Given the description of an element on the screen output the (x, y) to click on. 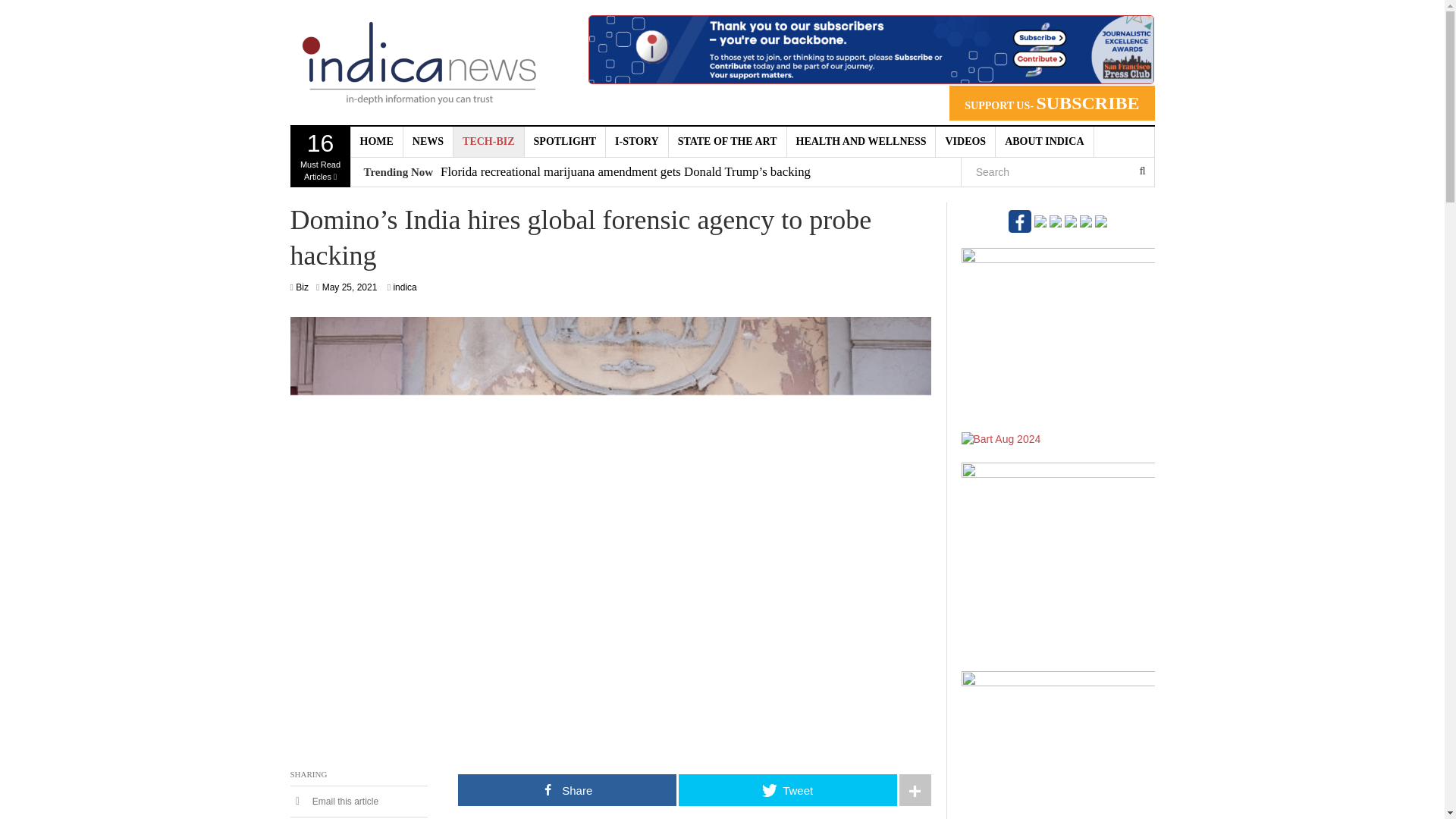
indica (404, 286)
ABOUT INDICA (1044, 141)
NEWS (427, 141)
VIDEOS (965, 141)
STATE OF THE ART (727, 141)
Tweet (787, 789)
Share (567, 789)
TECH-BIZ (488, 141)
Biz (301, 286)
SPOTLIGHT (564, 141)
